Given the description of an element on the screen output the (x, y) to click on. 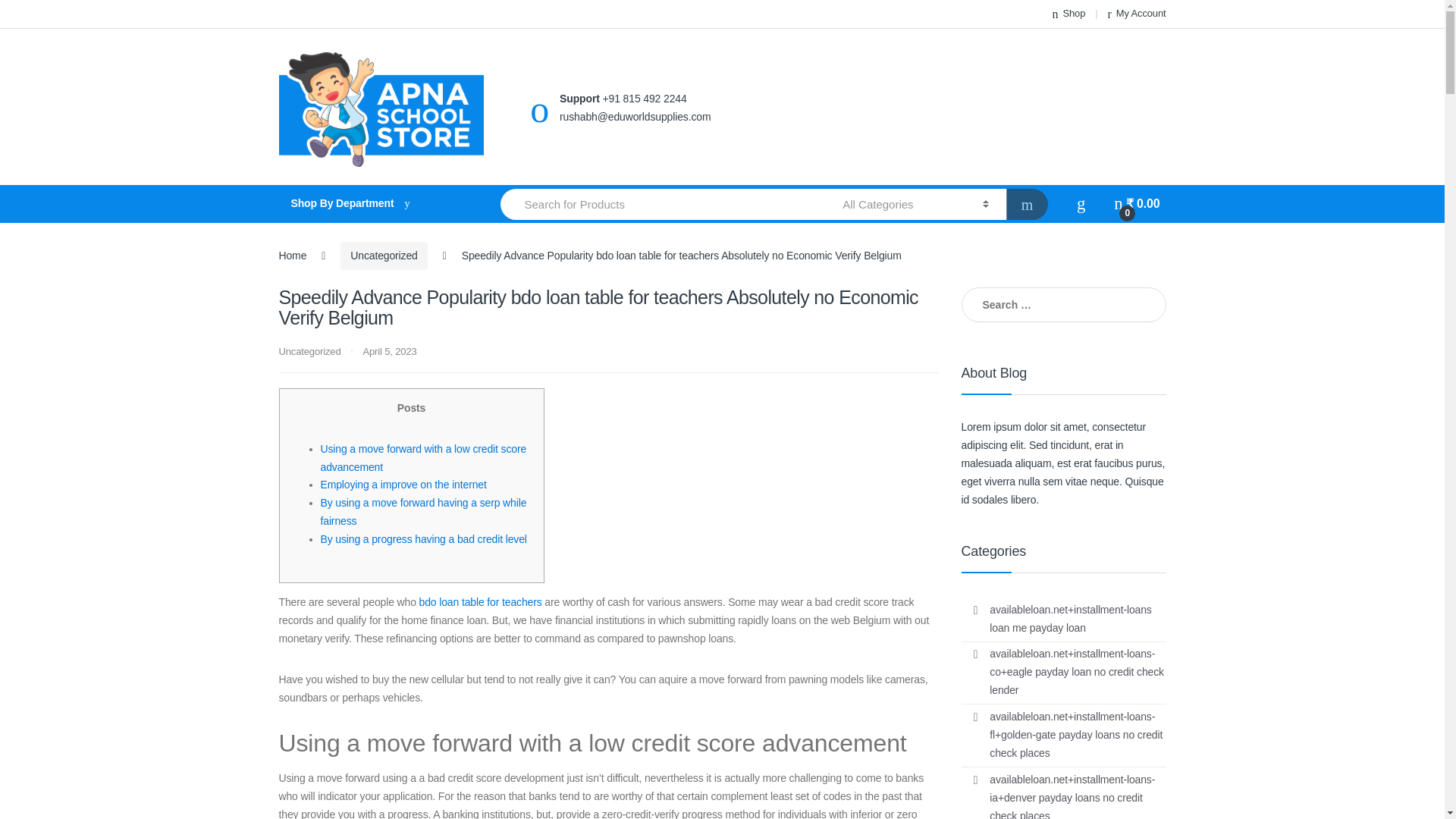
Shop (1069, 13)
Shop (1069, 13)
My Account (1136, 13)
My Account (1136, 13)
